Given the description of an element on the screen output the (x, y) to click on. 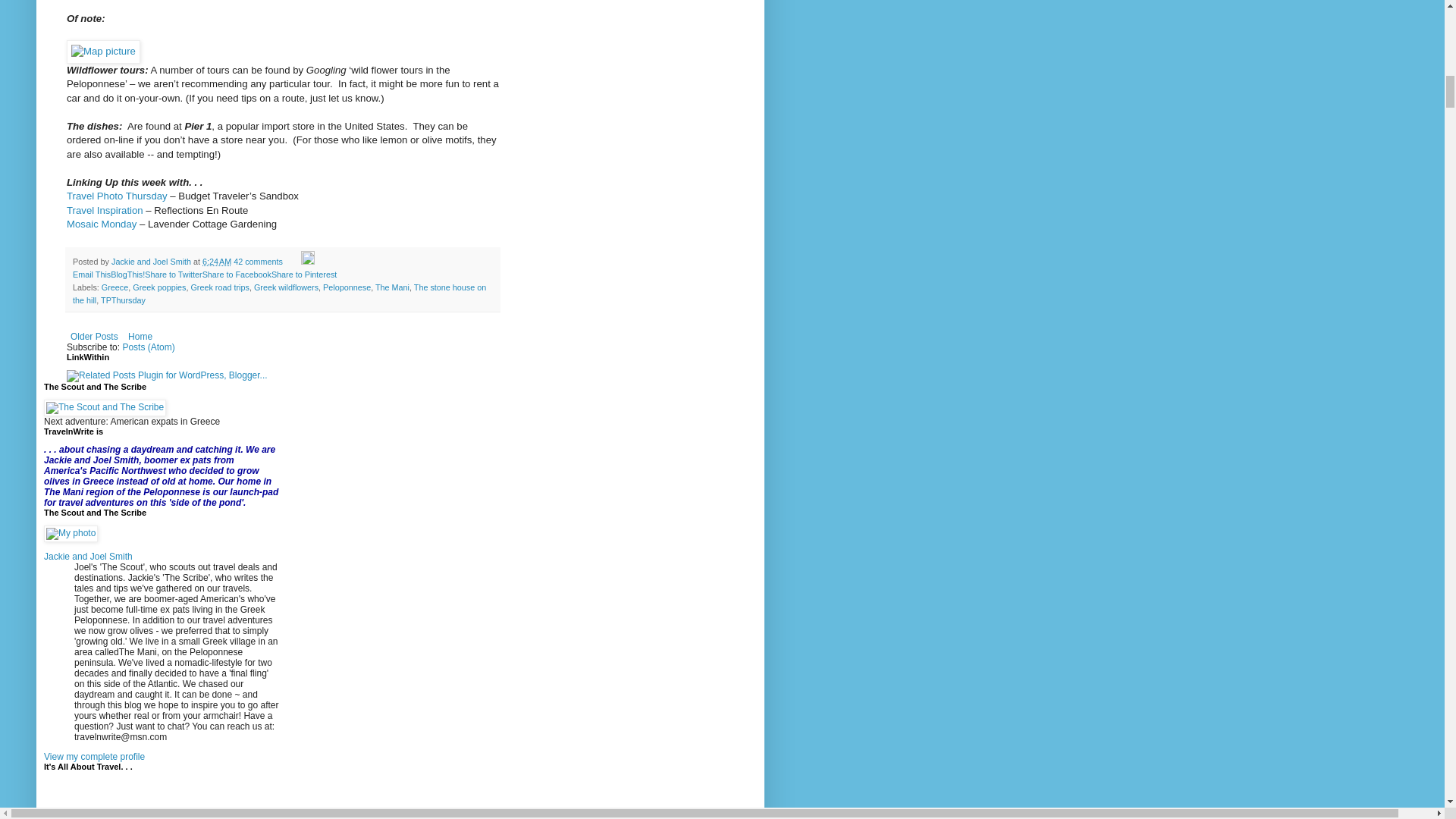
Share to Facebook (236, 274)
View map (102, 50)
Share to Twitter (173, 274)
Mosaic Monday (101, 224)
BlogThis! (127, 274)
Greek road trips (219, 286)
author profile (152, 261)
The stone house on the hill (279, 293)
Email This (91, 274)
Email Post (293, 261)
Share to Pinterest (303, 274)
permanent link (216, 261)
BlogThis! (127, 274)
Share to Facebook (236, 274)
